Given the description of an element on the screen output the (x, y) to click on. 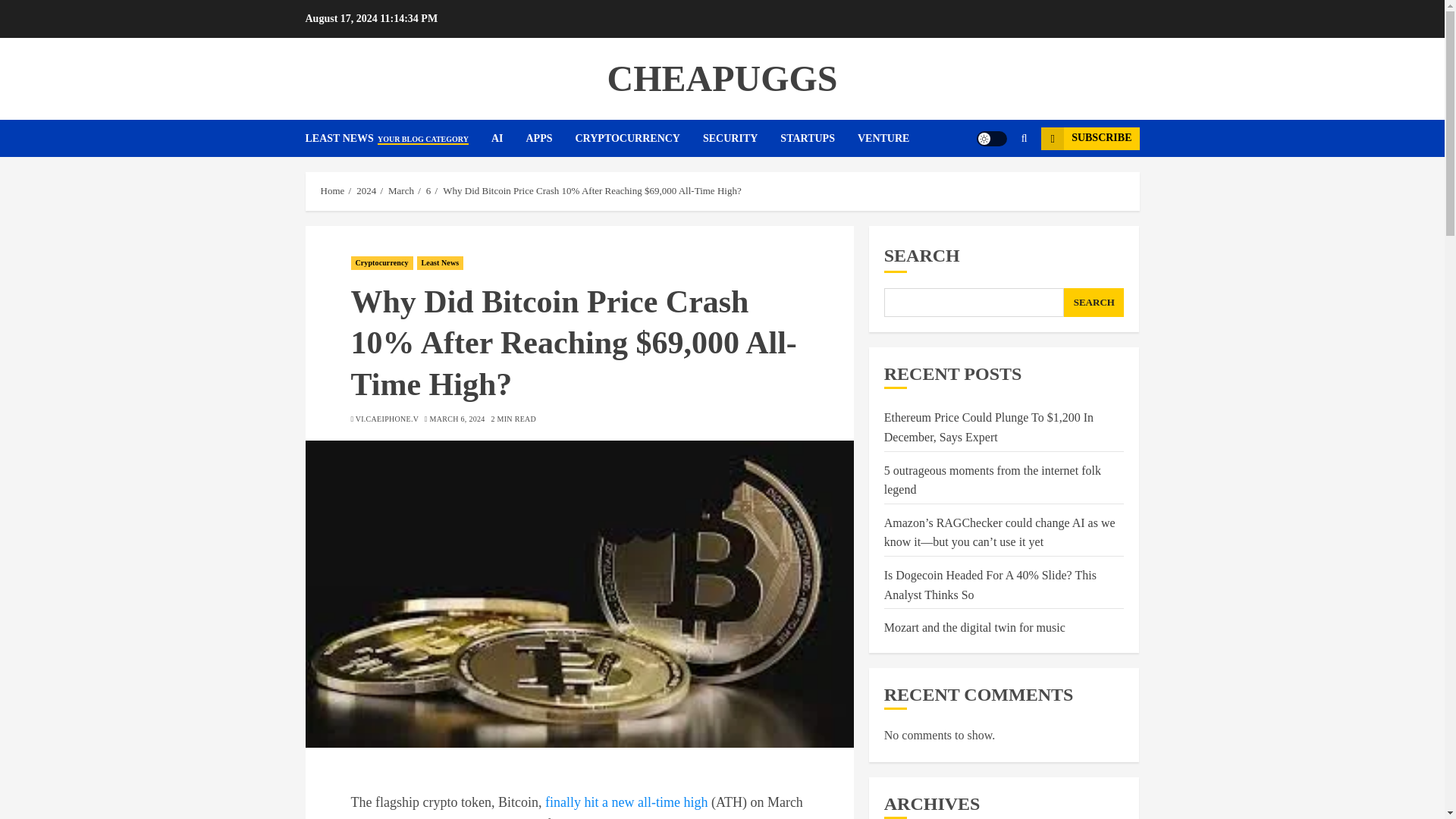
Cryptocurrency (381, 263)
SUBSCRIBE (1089, 138)
VI.CAEIPHONE.V (387, 419)
CRYPTOCURRENCY (638, 138)
Least News (440, 263)
Home (331, 191)
March (400, 191)
CHEAPUGGS (722, 78)
VENTURE (882, 138)
finally hit a new all-time high (625, 801)
